Given the description of an element on the screen output the (x, y) to click on. 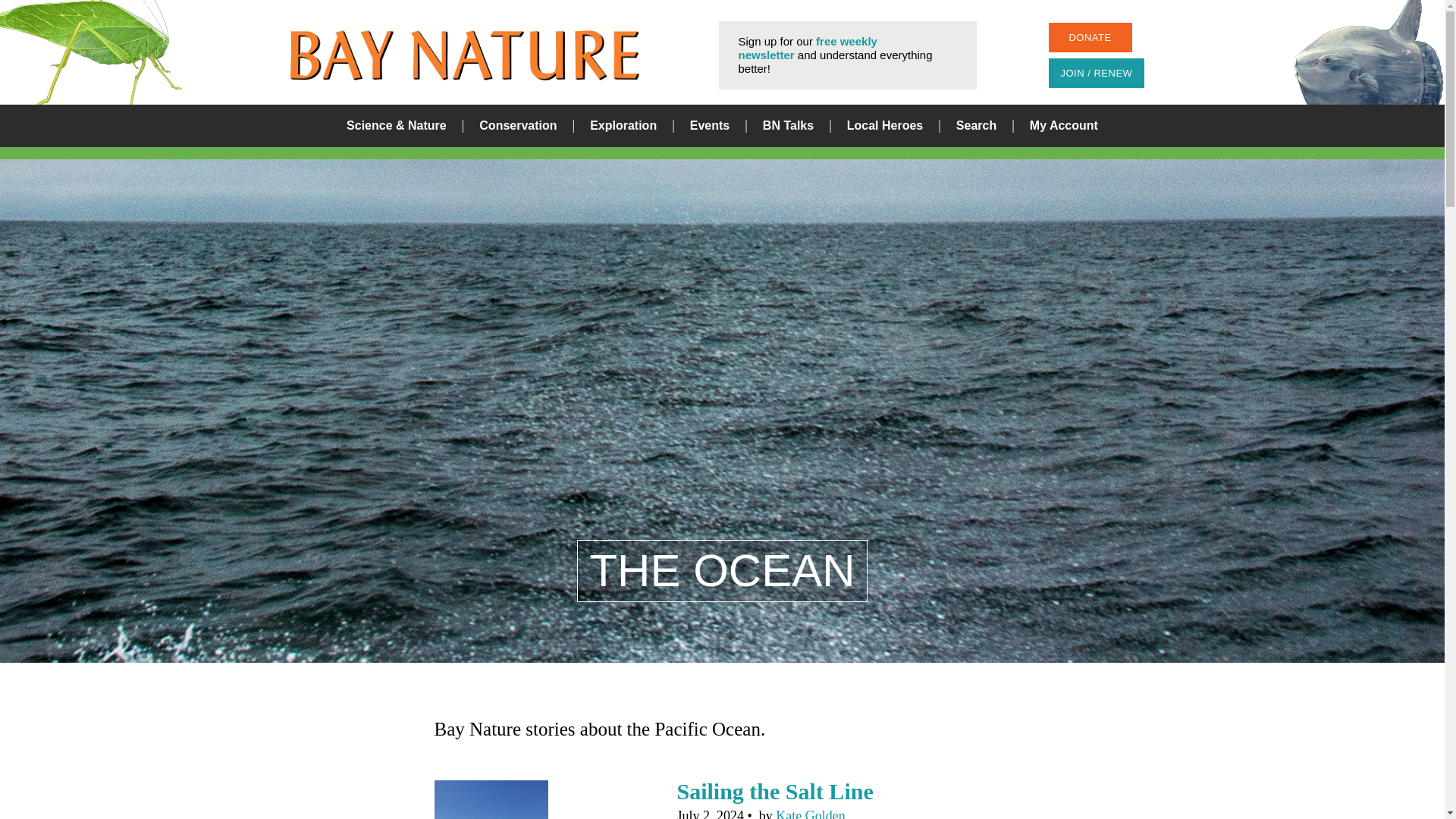
Events (709, 125)
DONATE (1089, 37)
free weekly newsletter (807, 48)
Search (975, 125)
My Account (1063, 125)
Search (879, 409)
Conservation (517, 125)
BN Talks (787, 125)
Exploration (622, 125)
Kate Golden (810, 813)
Posts by Kate Golden (810, 813)
Bay Nature (464, 54)
Local Heroes (885, 125)
Sailing the Salt Line (774, 790)
